Given the description of an element on the screen output the (x, y) to click on. 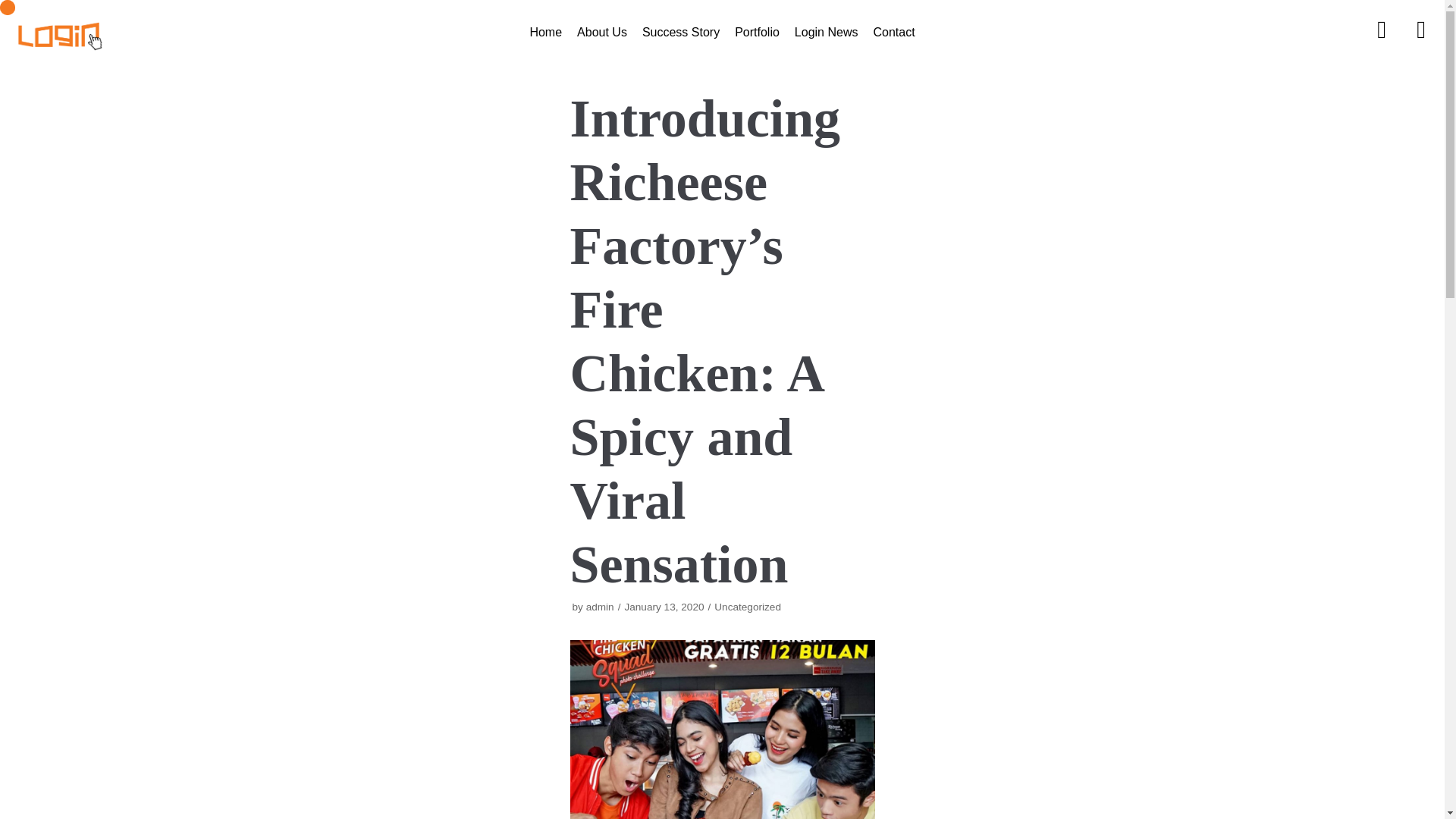
Uncategorized (747, 606)
Contact (893, 32)
Skip to content (15, 7)
About Us (601, 32)
admin (600, 606)
Posts by admin (600, 606)
Login Communication (58, 31)
Portfolio (756, 32)
Home (545, 32)
Login News (826, 32)
Success Story (680, 32)
